Given the description of an element on the screen output the (x, y) to click on. 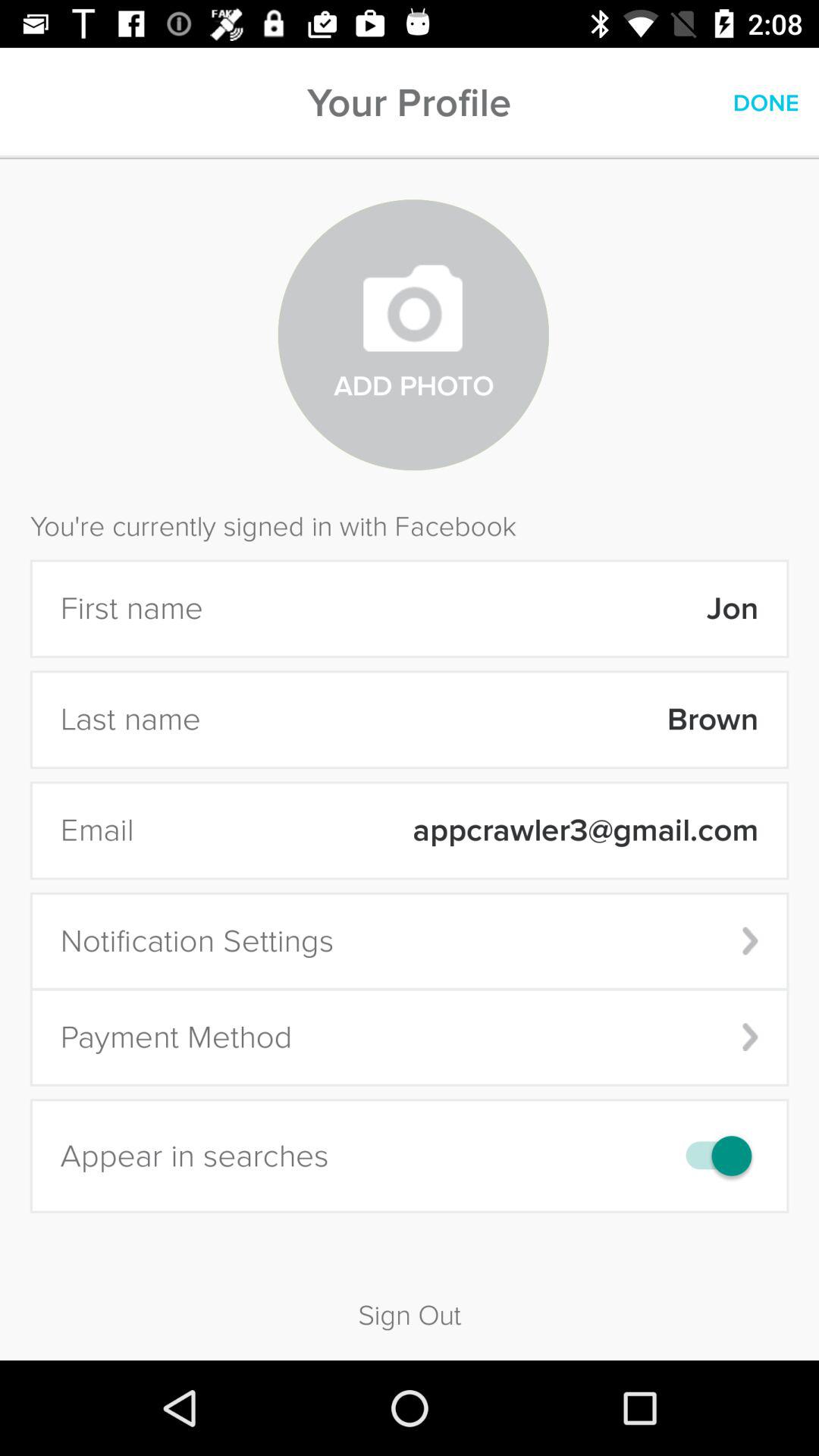
turn on icon above the you re currently icon (766, 103)
